Given the description of an element on the screen output the (x, y) to click on. 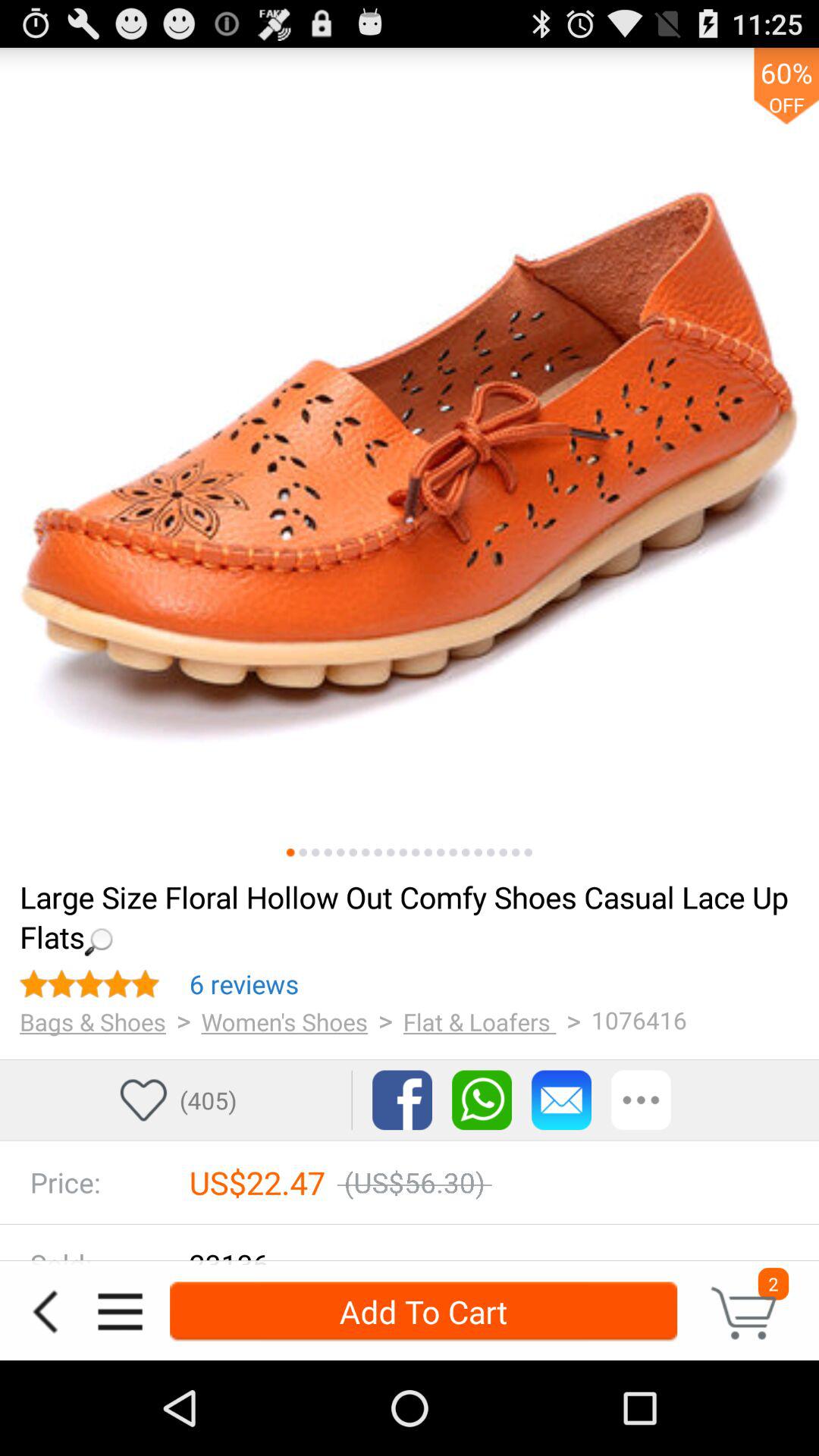
share on whatsapp (481, 1100)
